Given the description of an element on the screen output the (x, y) to click on. 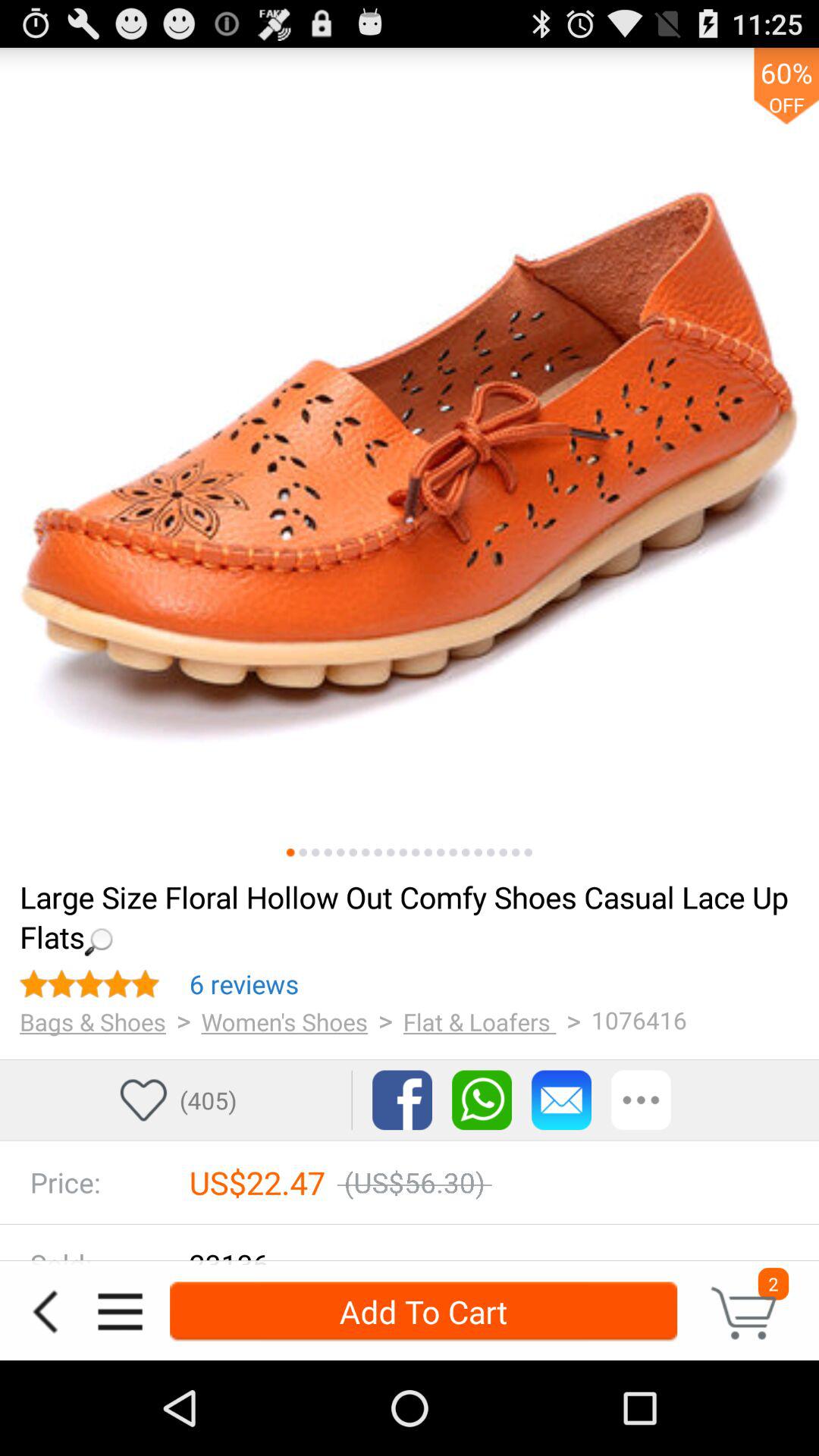
share on whatsapp (481, 1100)
